Given the description of an element on the screen output the (x, y) to click on. 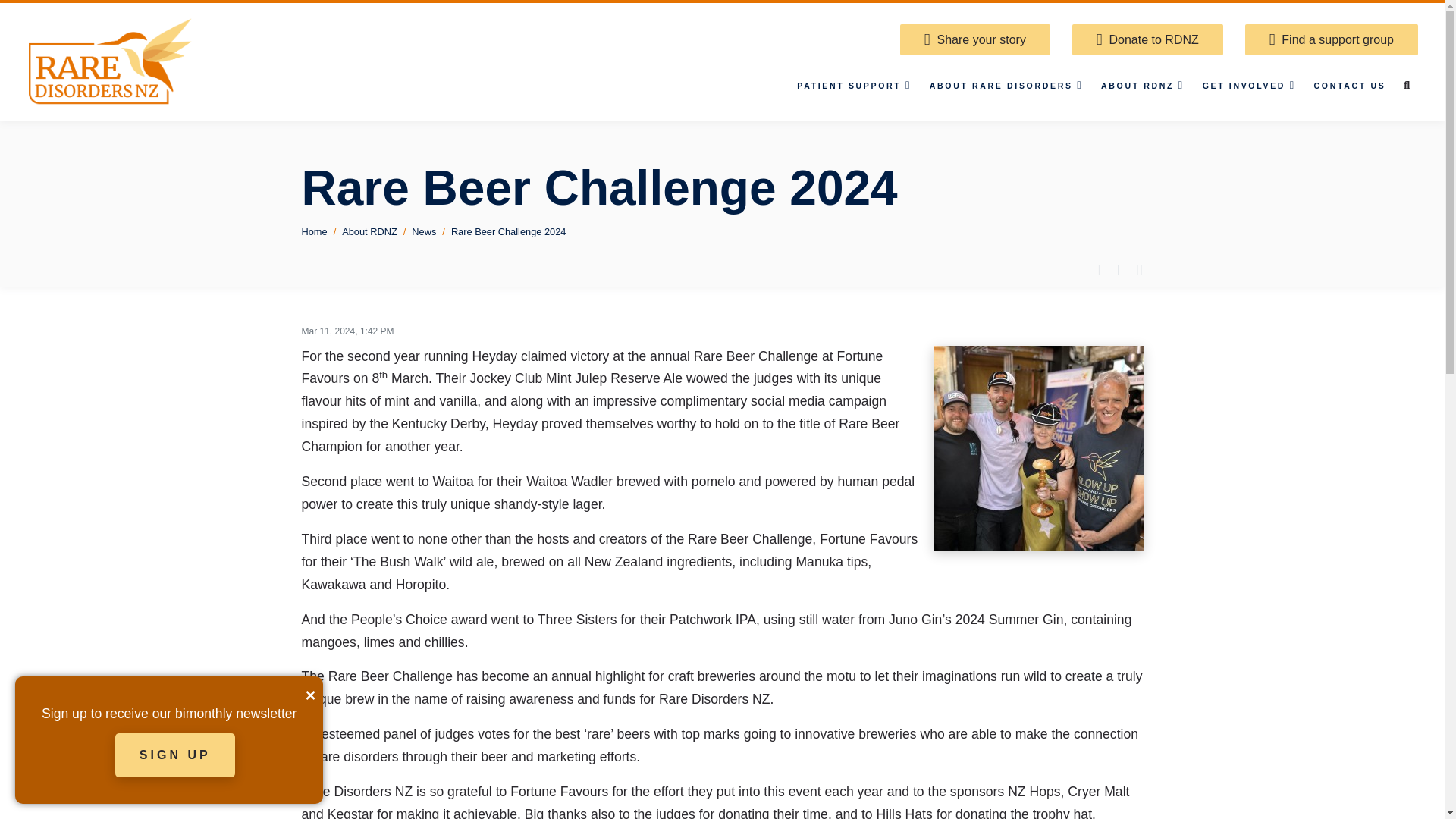
  Donate to RDNZ (1147, 39)
GET INVOLVED (1248, 86)
  Share your story (974, 39)
ABOUT RDNZ (1142, 86)
Go to Home Page (112, 61)
PATIENT SUPPORT (853, 86)
ABOUT RARE DISORDERS (1006, 86)
  Find a support group (1331, 39)
